Given the description of an element on the screen output the (x, y) to click on. 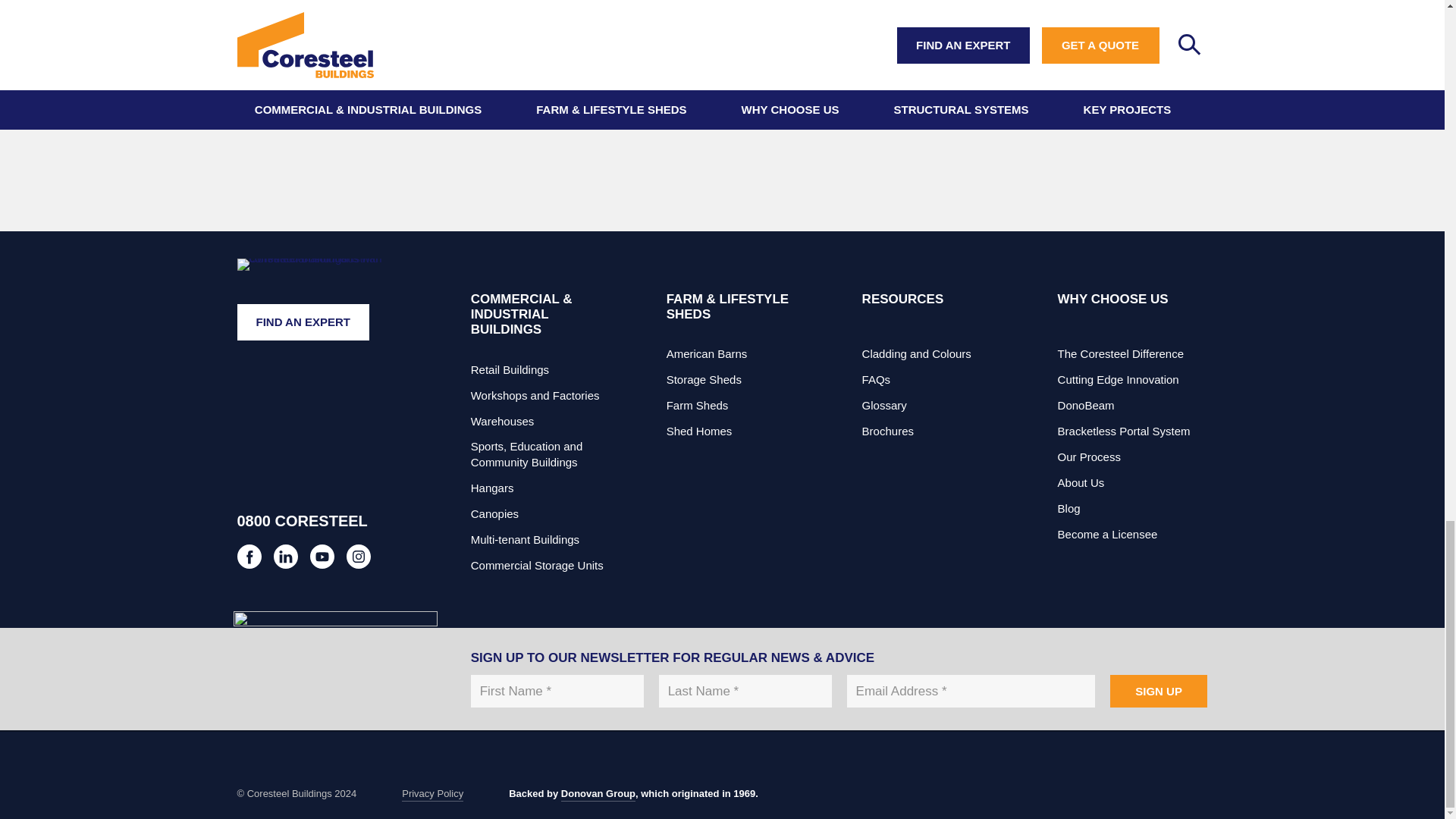
You Tube icon (357, 556)
Facebook icon (247, 556)
Sign up (1158, 690)
Link to the Home page (314, 297)
Linked In icon (285, 556)
Visit the Donovan Group website. Opens in a new tab.  (597, 794)
You Tube icon (320, 556)
